Given the description of an element on the screen output the (x, y) to click on. 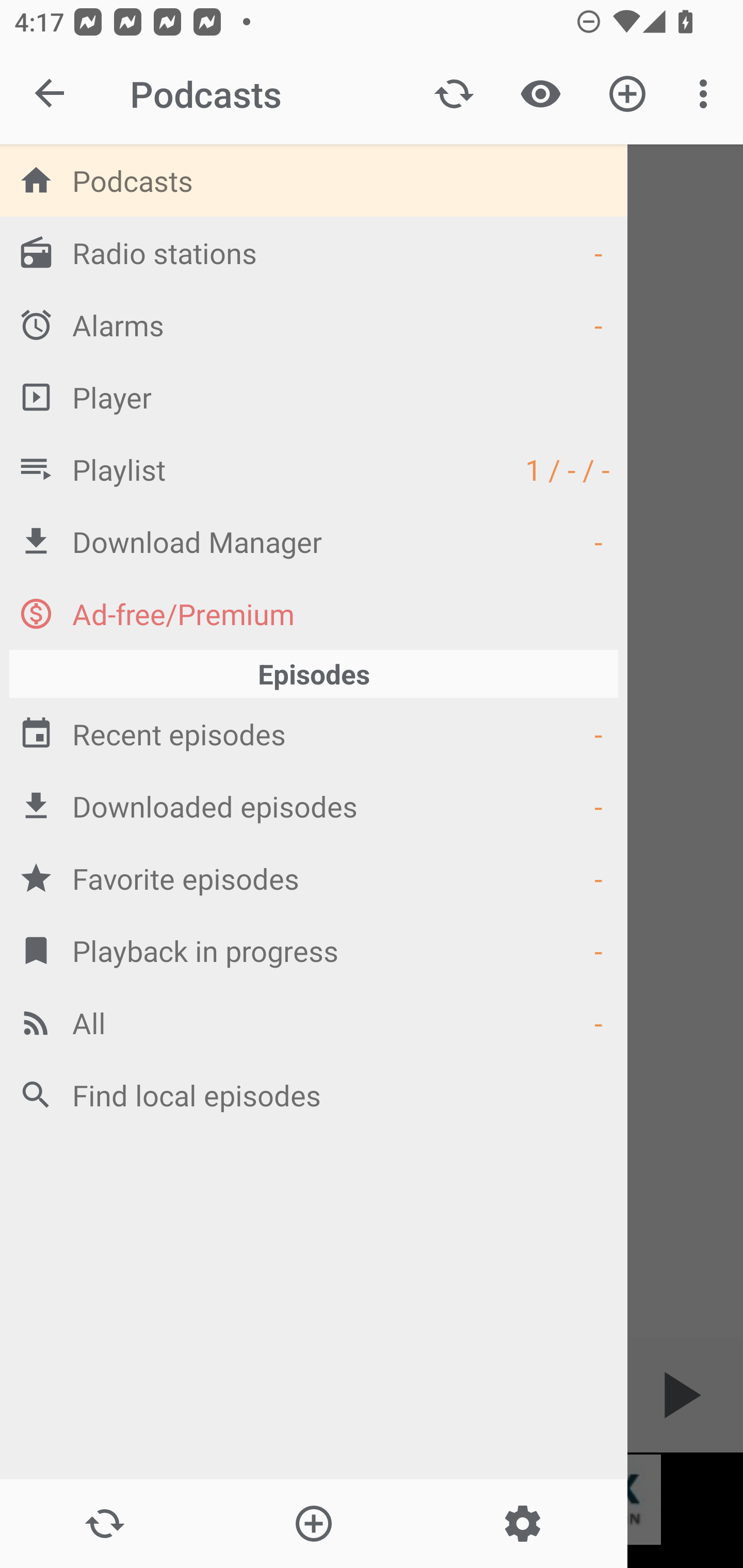
Close navigation sidebar (50, 93)
Update (453, 93)
Show / Hide played content (540, 93)
Add new Podcast (626, 93)
More options (706, 93)
Podcasts (313, 180)
Radio stations  -  (313, 252)
Alarms  -  (313, 324)
Player (313, 396)
Playlist 1 / - / - (313, 468)
Download Manager  -  (313, 540)
Ad-free/Premium (313, 613)
Recent episodes  -  (313, 733)
Downloaded episodes  -  (313, 805)
Favorite episodes  -  (313, 878)
Playback in progress  -  (313, 950)
All  -  (313, 1022)
Find local episodes (313, 1094)
Update (104, 1523)
Add new Podcast (312, 1523)
Settings (522, 1523)
